Given the description of an element on the screen output the (x, y) to click on. 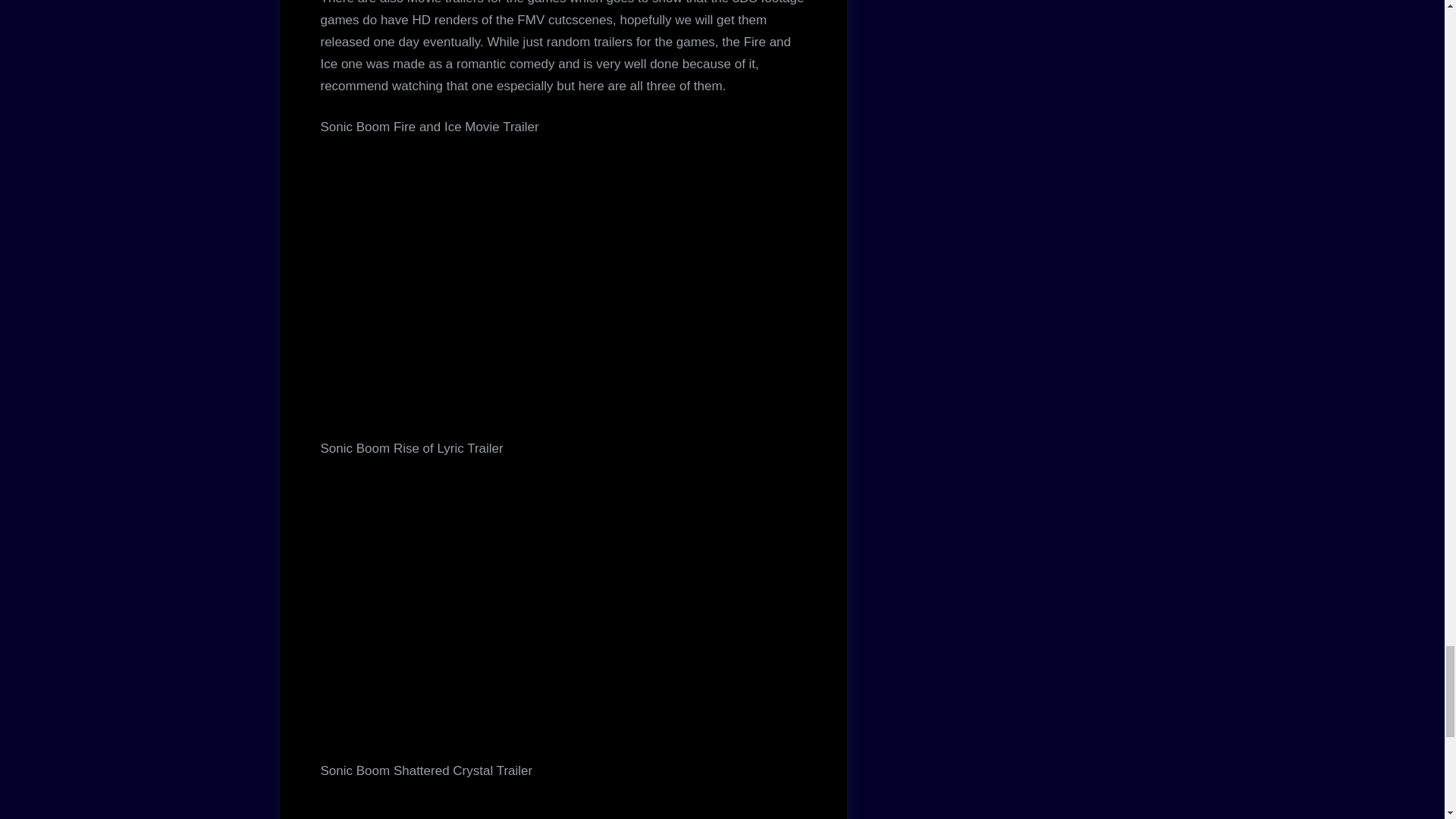
Sonic Boom: Rise of Lyric Launch Trailer (562, 596)
Sonic Boom: Fire and Ice - An Unexpected Trailer (562, 274)
Sonic Boom: Shattered Crystal Launch Trailer (562, 800)
